Given the description of an element on the screen output the (x, y) to click on. 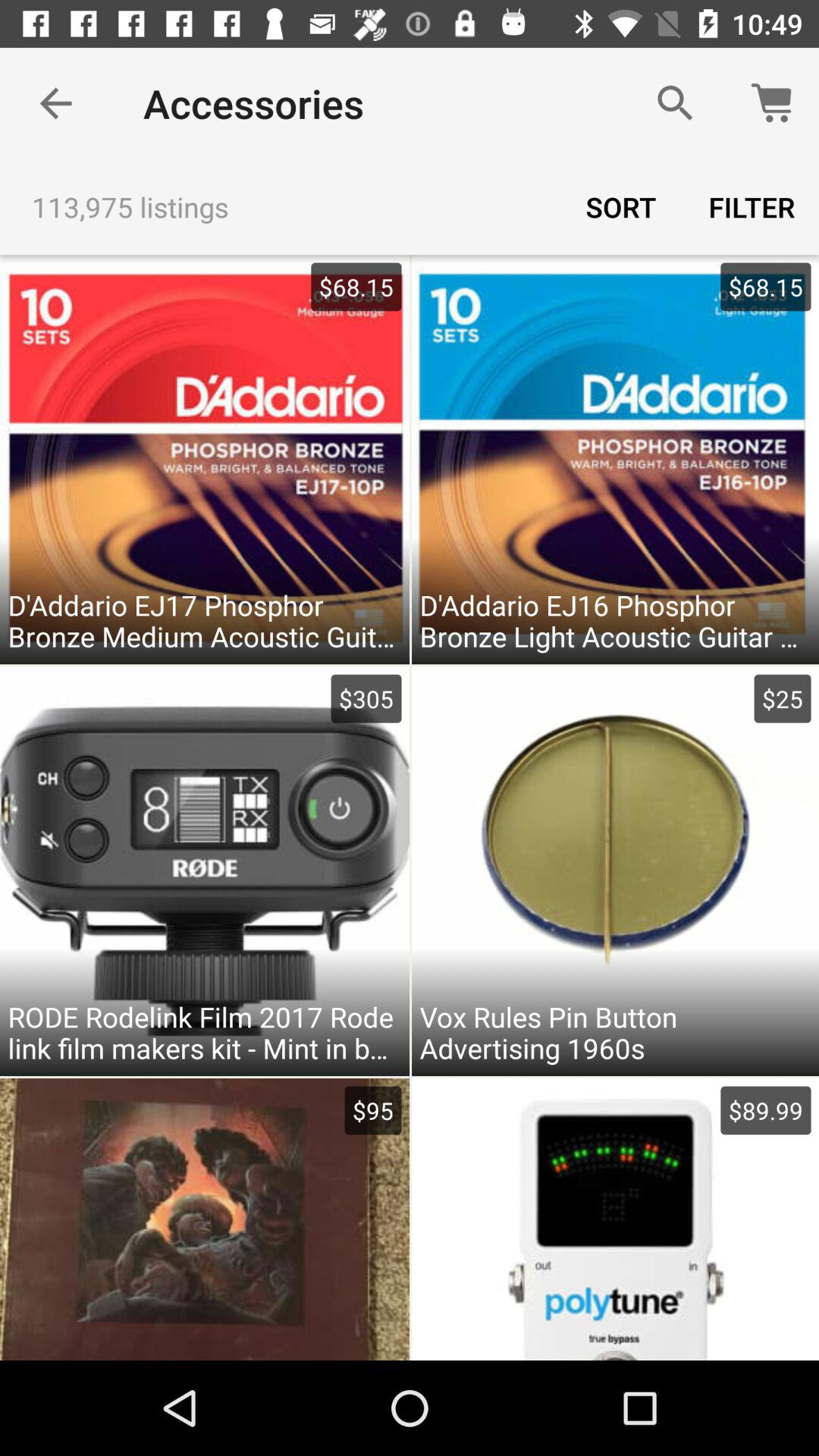
click the item next to accessories item (55, 103)
